Given the description of an element on the screen output the (x, y) to click on. 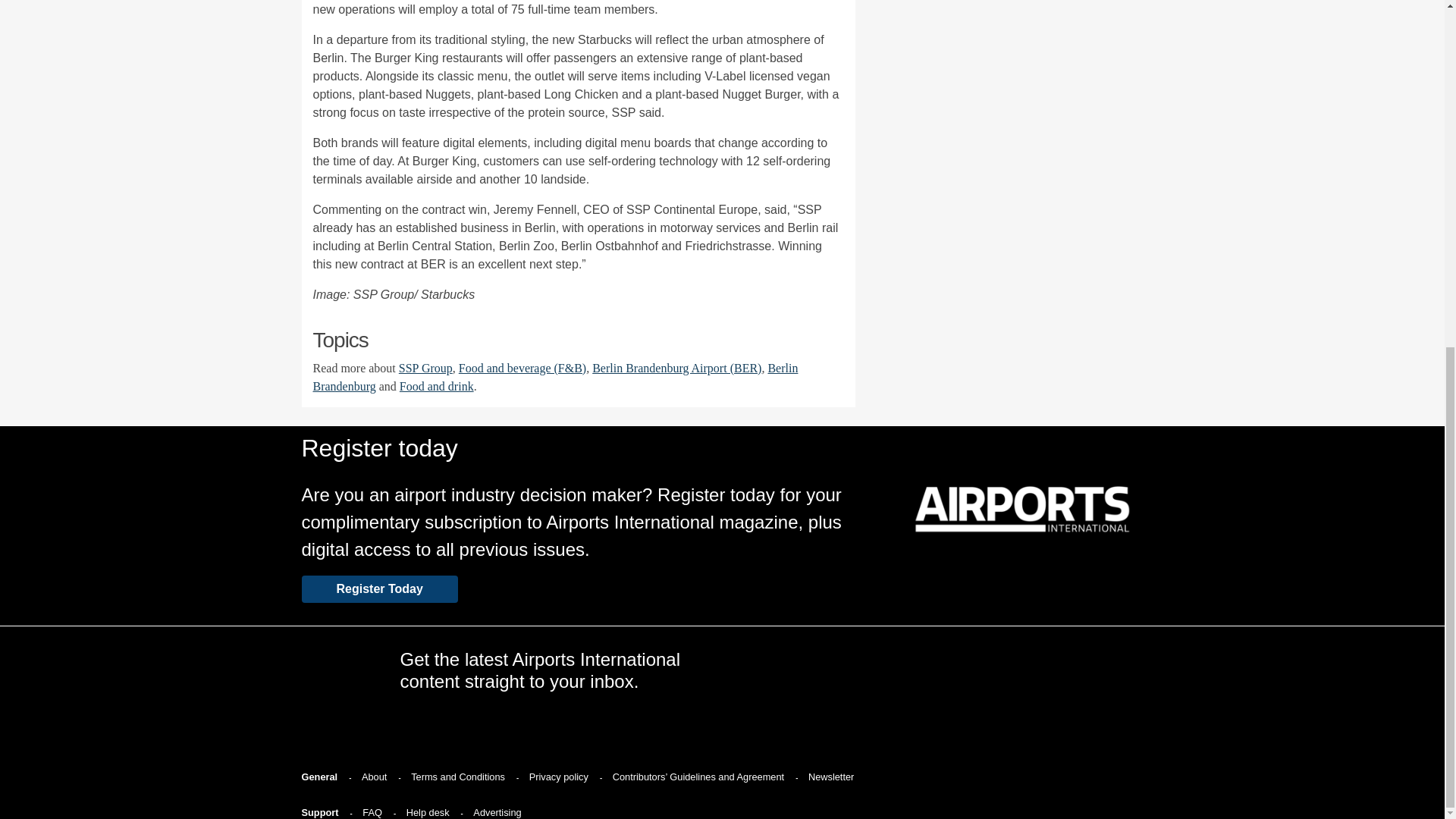
Register Today (379, 588)
Privacy policy (560, 776)
SSP Group (425, 367)
Help desk (429, 812)
Food and drink (436, 386)
Advertising (498, 812)
About (375, 776)
Berlin Brandenburg (555, 377)
FAQ (374, 812)
Newsletter (832, 776)
